Given the description of an element on the screen output the (x, y) to click on. 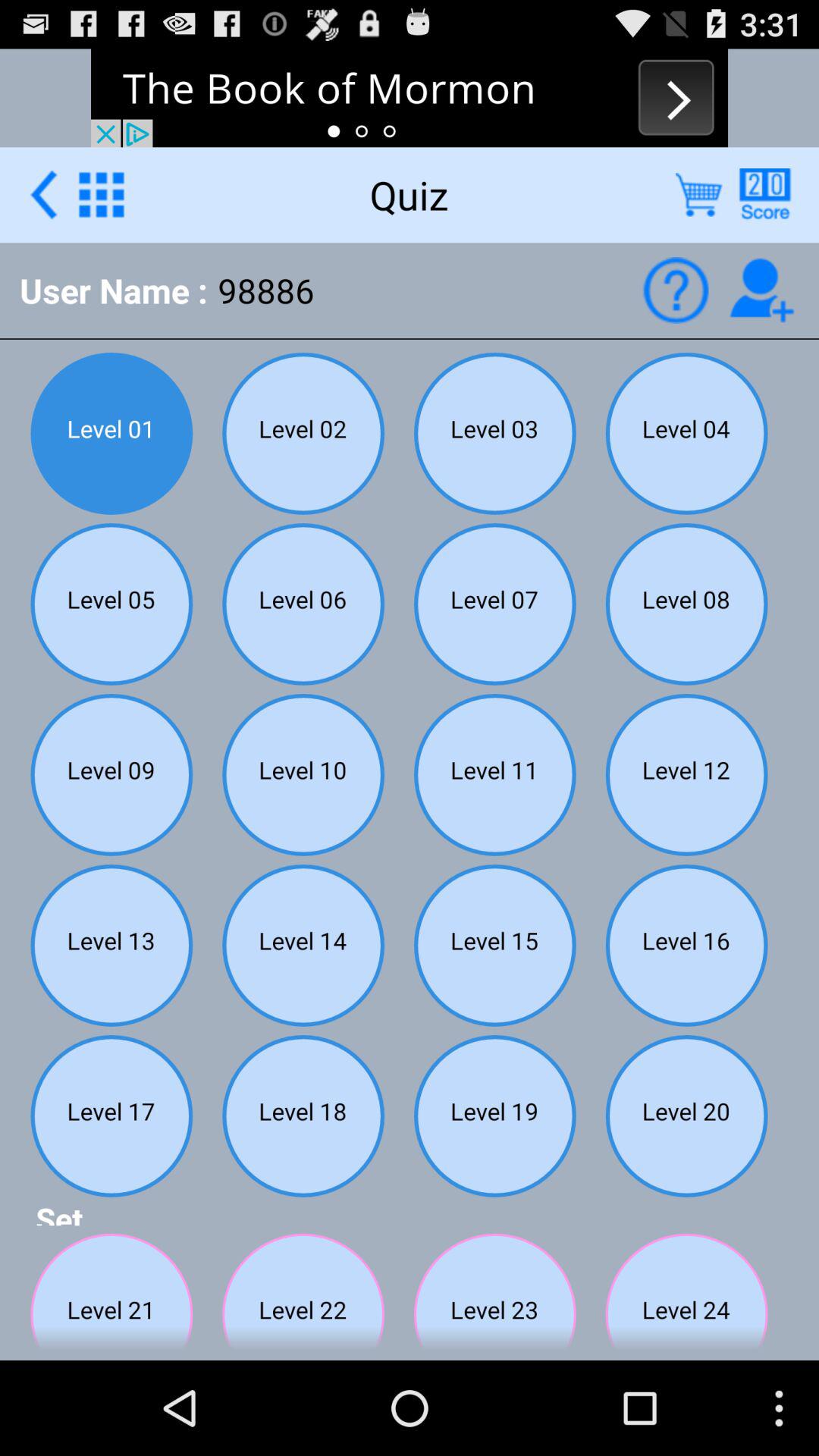
see score (764, 194)
